Given the description of an element on the screen output the (x, y) to click on. 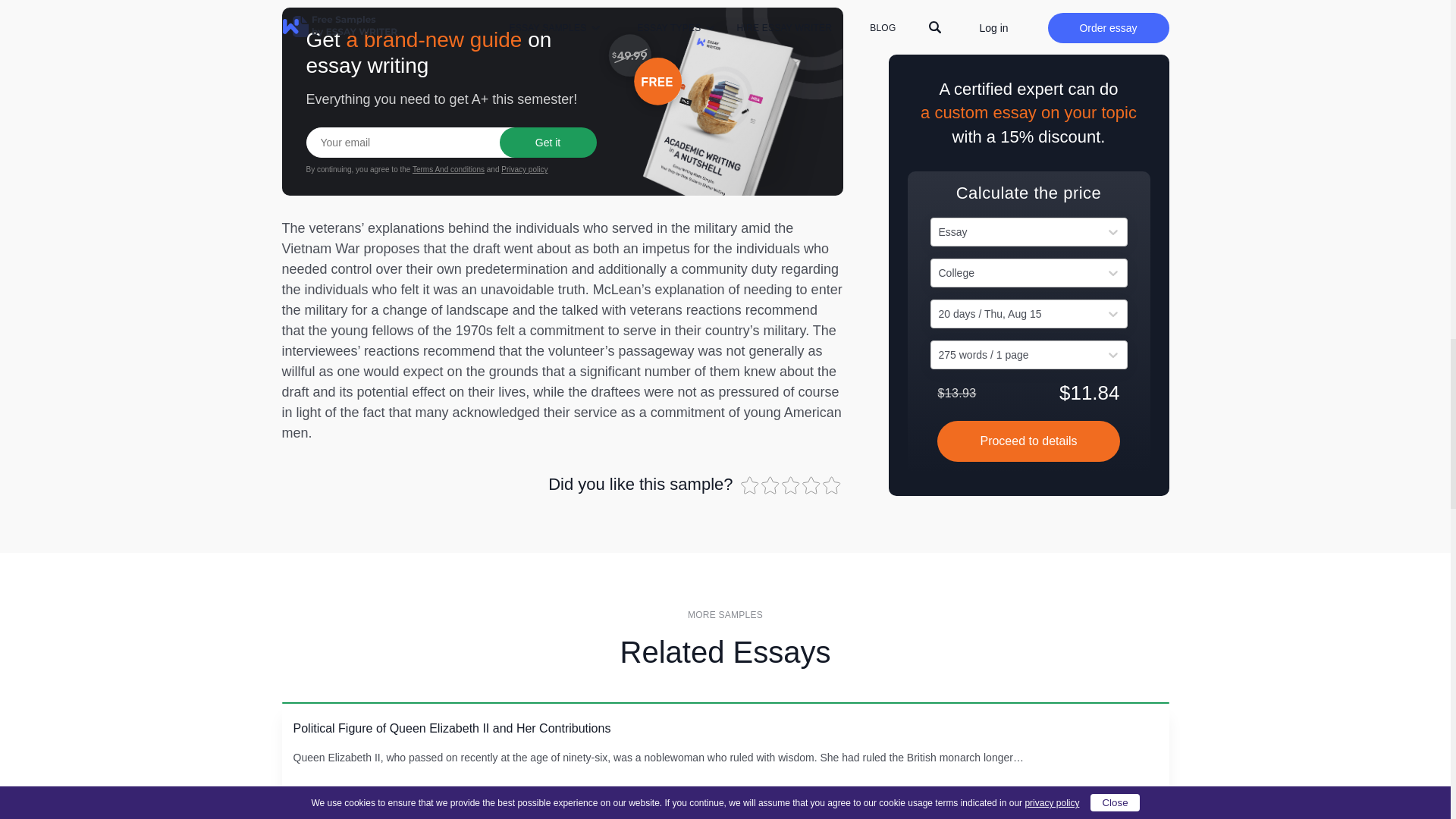
32 votes, average: 4,9 out of 5 (832, 484)
32 votes, average: 4,9 out of 5 (749, 484)
32 votes, average: 4,9 out of 5 (791, 484)
32 votes, average: 4,9 out of 5 (812, 484)
Political Figure of Queen Elizabeth II and Her Contributions (451, 727)
32 votes, average: 4,9 out of 5 (771, 484)
